Given the description of an element on the screen output the (x, y) to click on. 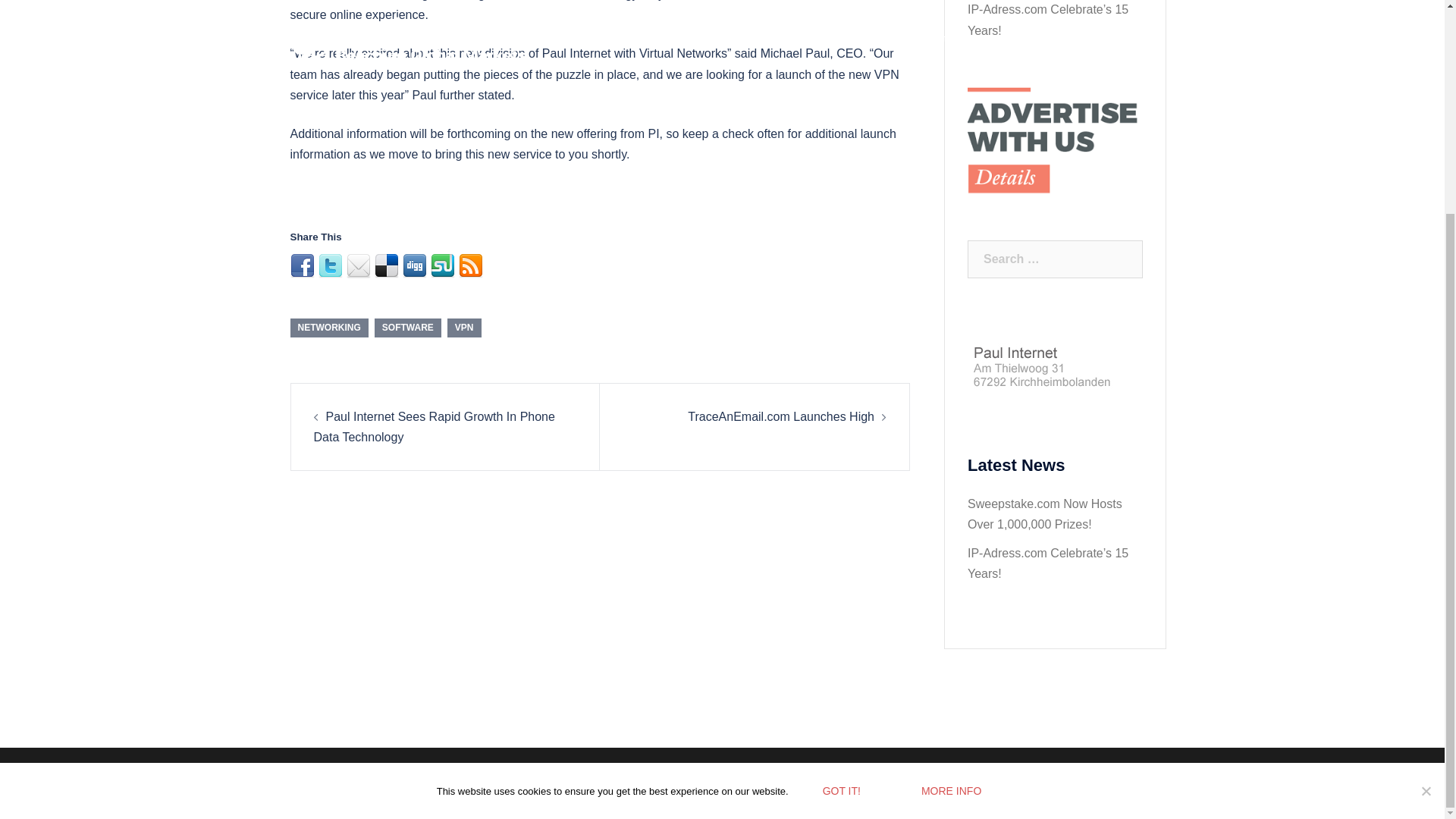
SOFTWARE (407, 327)
Sweepstake.com Now Hosts Over 1,000,000 Prizes! (1045, 513)
Paul Internet Sees Rapid Growth In Phone Data Technology (434, 426)
VPN (463, 327)
RSS Feed (469, 265)
Share on Facebook (301, 265)
MORE INFO (951, 510)
NETWORKING (328, 327)
Share on StumbleUpon (442, 265)
Sydney (538, 772)
Share on Digg (413, 265)
No (1425, 510)
Share on Twitter (330, 265)
TraceAnEmail.com Launches High (781, 416)
Share on Delicious (386, 265)
